Given the description of an element on the screen output the (x, y) to click on. 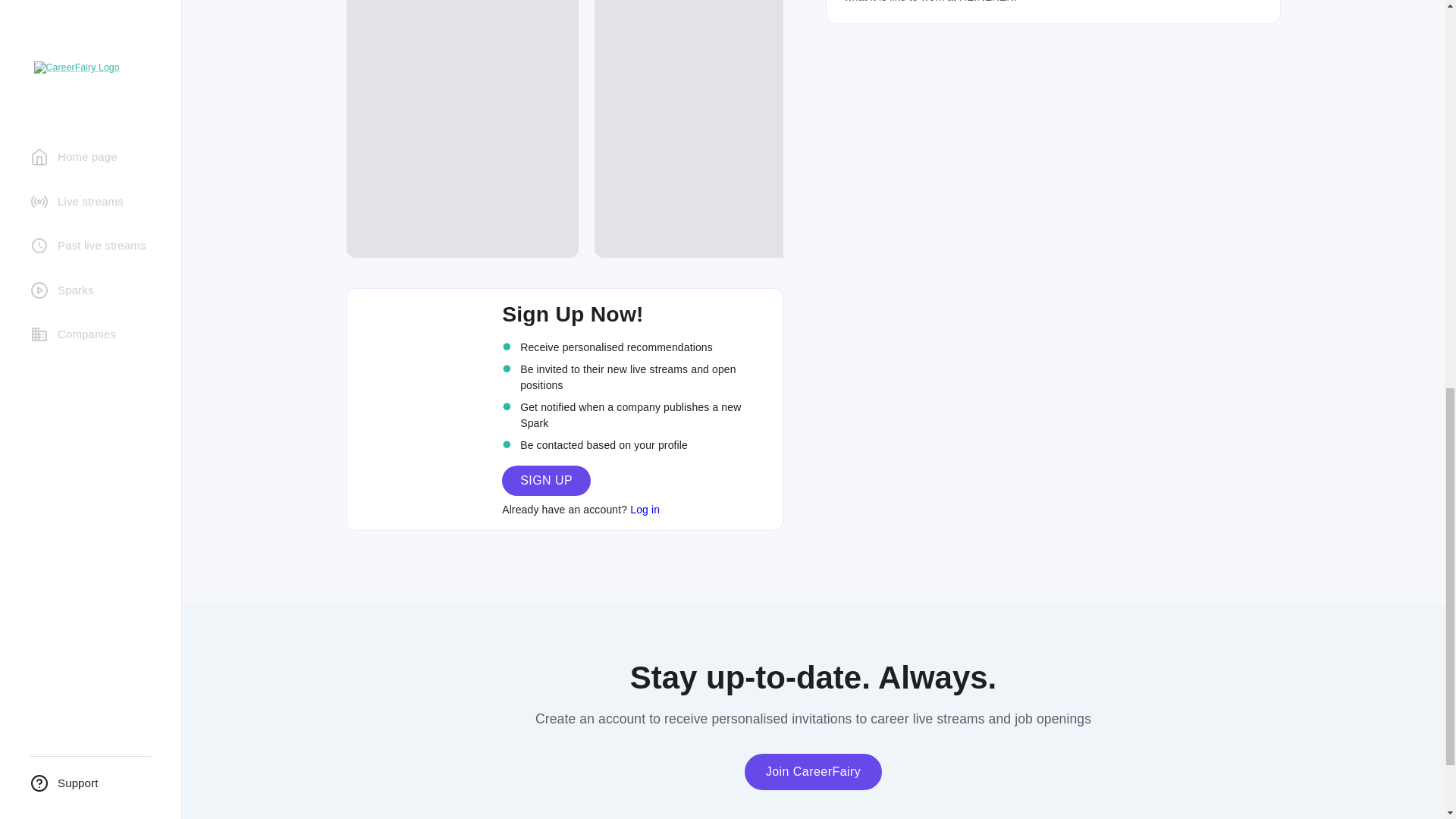
Join CareerFairy (813, 771)
Join CareerFairy (813, 771)
Log in (644, 509)
SIGN UP (546, 481)
SIGN UP (546, 480)
